Given the description of an element on the screen output the (x, y) to click on. 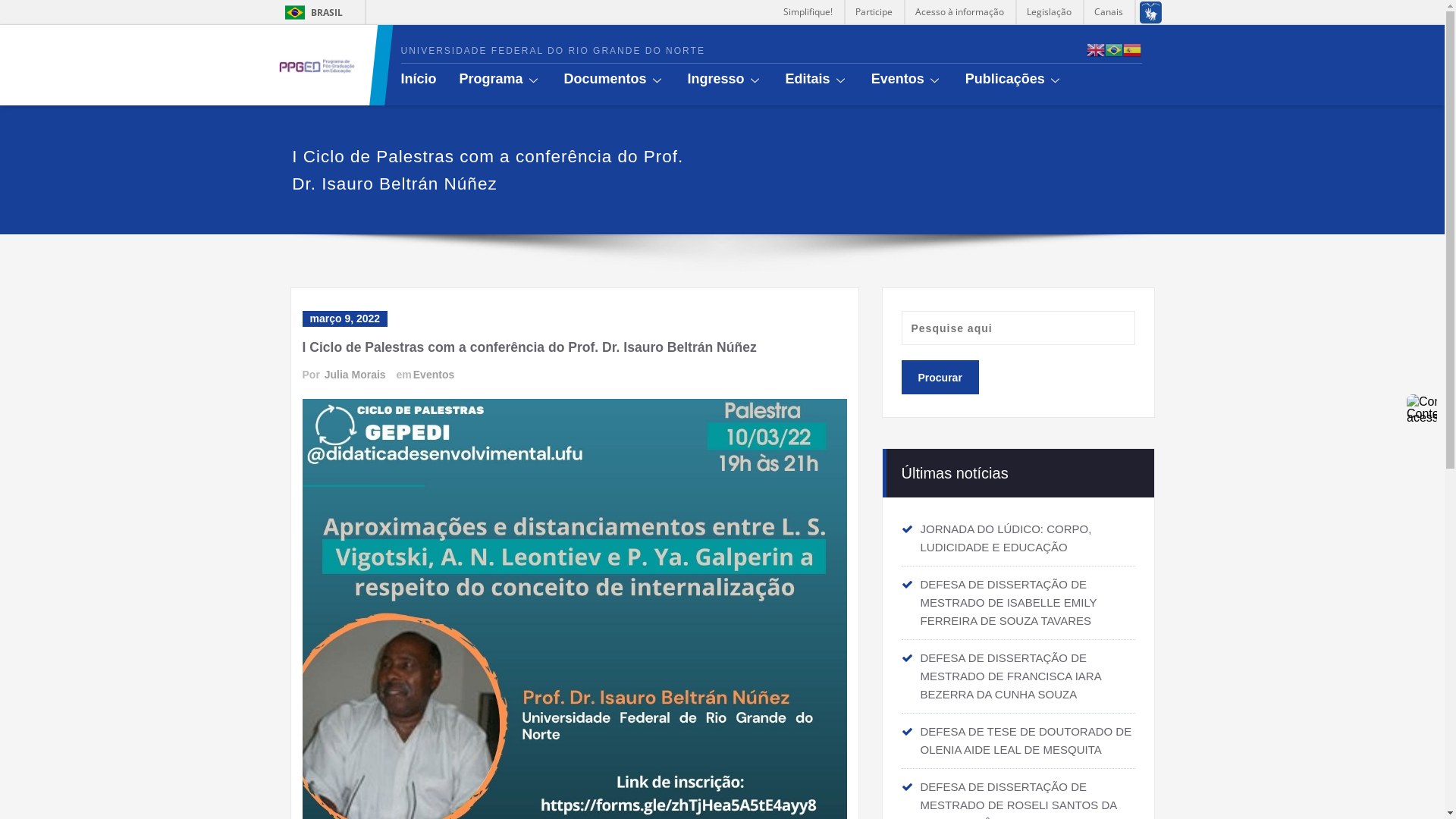
Ingresso Element type: text (736, 78)
Portuguese Element type: hover (1113, 48)
Julia Morais Element type: text (354, 374)
Programa Element type: text (511, 78)
Documentos Element type: text (625, 78)
English Element type: hover (1095, 48)
Editais Element type: text (828, 78)
Eventos Element type: text (432, 374)
Spanish Element type: hover (1132, 48)
DEFESA DE TESE DE DOUTORADO DE OLENIA AIDE LEAL DE MESQUITA Element type: text (1026, 740)
Eventos Element type: text (918, 78)
Procurar Element type: text (939, 377)
BRASIL Element type: text (295, 12)
